Given the description of an element on the screen output the (x, y) to click on. 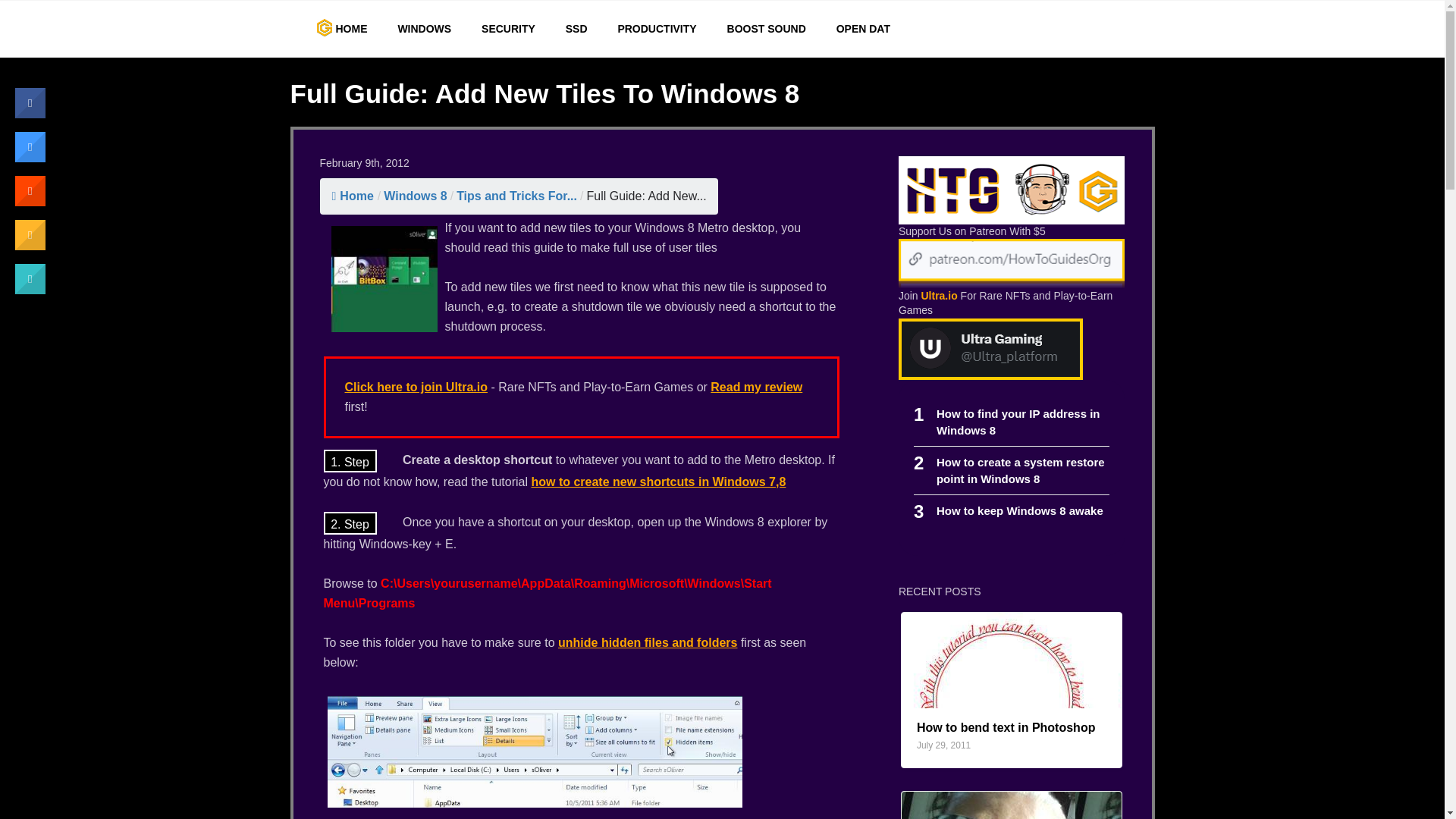
Category Name (1020, 470)
Productivity (415, 195)
Click here to join Ultra.io (656, 28)
How to bend text in Photoshop (414, 386)
PRODUCTIVITY (1006, 727)
Read my review (656, 28)
how to create new shortcuts in Windows 7,8 (756, 386)
Full Guide: Add New Tiles To Windows 8 (1019, 510)
